Given the description of an element on the screen output the (x, y) to click on. 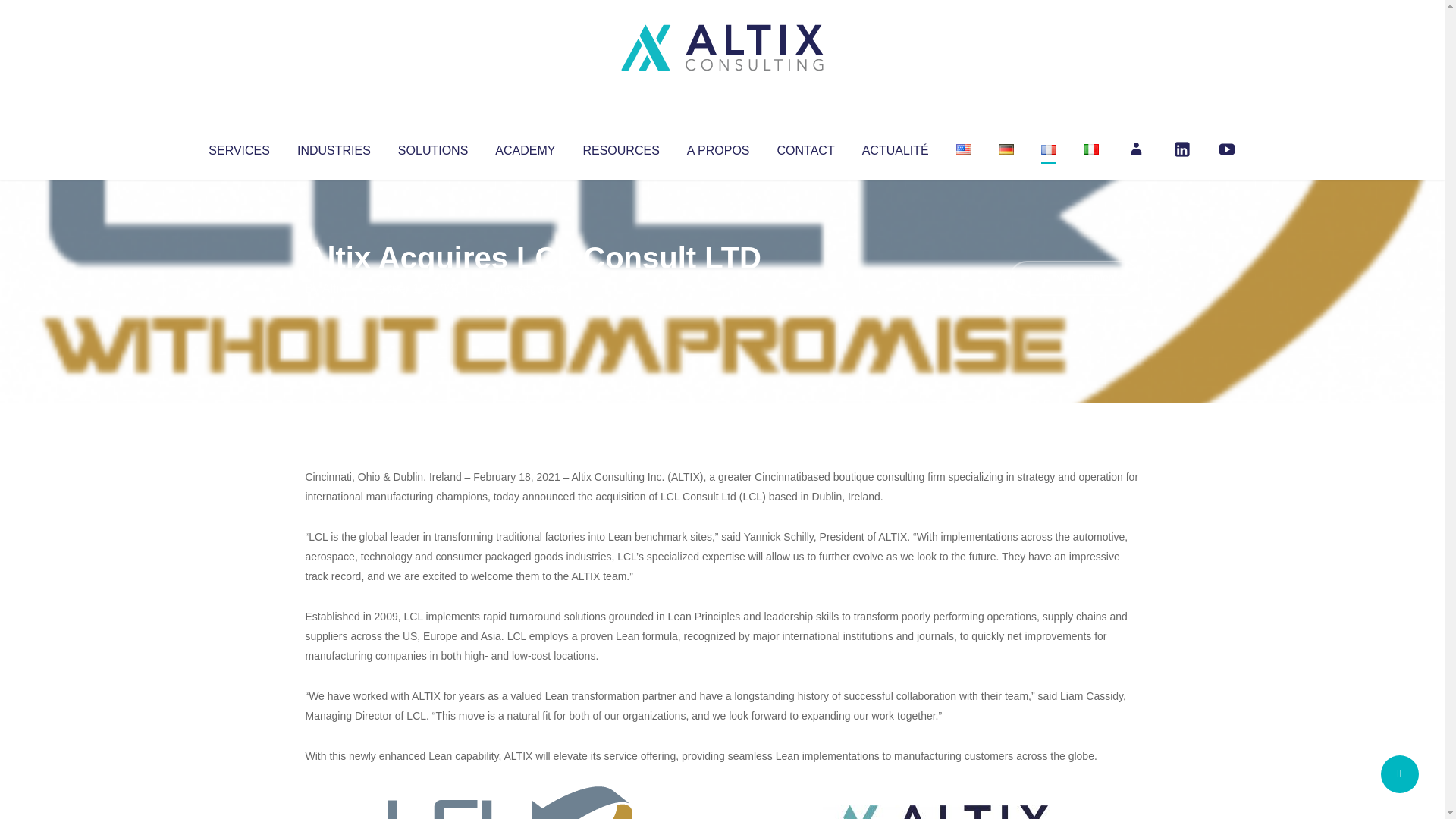
No Comments (1073, 278)
INDUSTRIES (334, 146)
A PROPOS (718, 146)
SERVICES (238, 146)
Altix (333, 287)
SOLUTIONS (432, 146)
Articles par Altix (333, 287)
ACADEMY (524, 146)
RESOURCES (620, 146)
Uncategorized (530, 287)
